Given the description of an element on the screen output the (x, y) to click on. 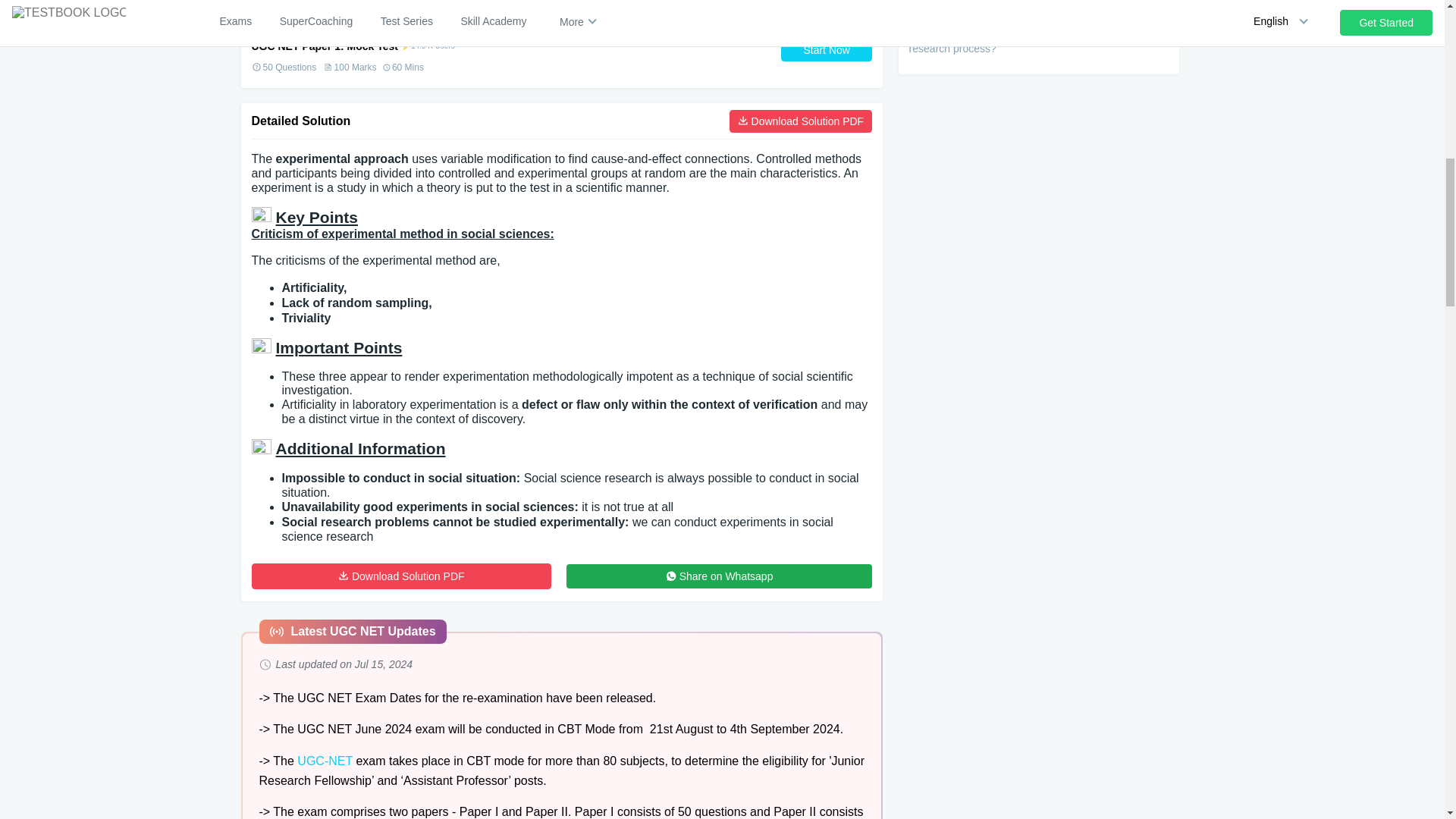
Download Solution PDF (401, 575)
Start Now (826, 49)
UGC-NET (324, 760)
Download Solution PDF (800, 120)
Share on Whatsapp (719, 576)
